Given the description of an element on the screen output the (x, y) to click on. 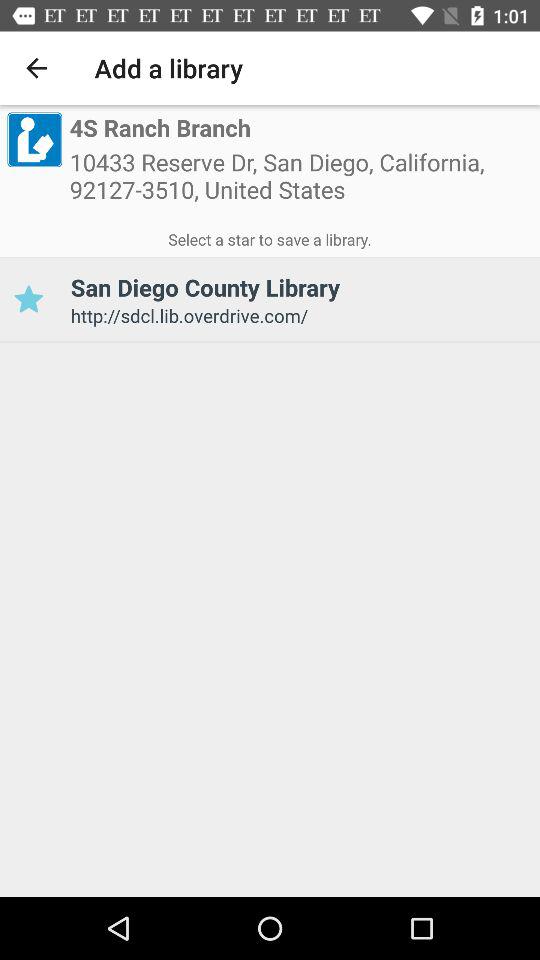
turn on the select a star icon (269, 236)
